Given the description of an element on the screen output the (x, y) to click on. 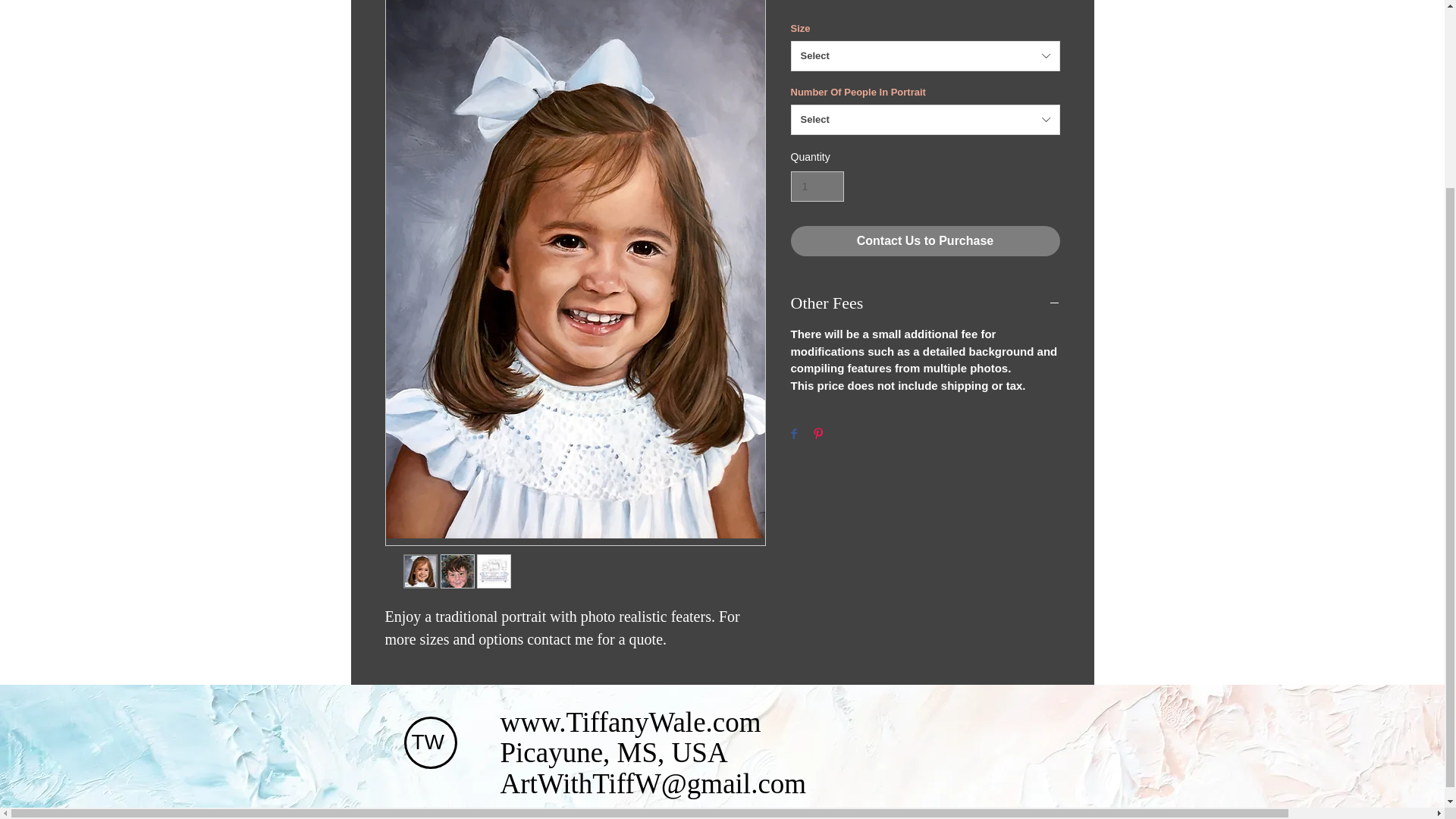
Select (924, 55)
TW (427, 741)
Select (924, 119)
Contact Us to Purchase (924, 241)
Other Fees (924, 302)
www.TiffanyWale.com (630, 721)
1 (817, 186)
